Given the description of an element on the screen output the (x, y) to click on. 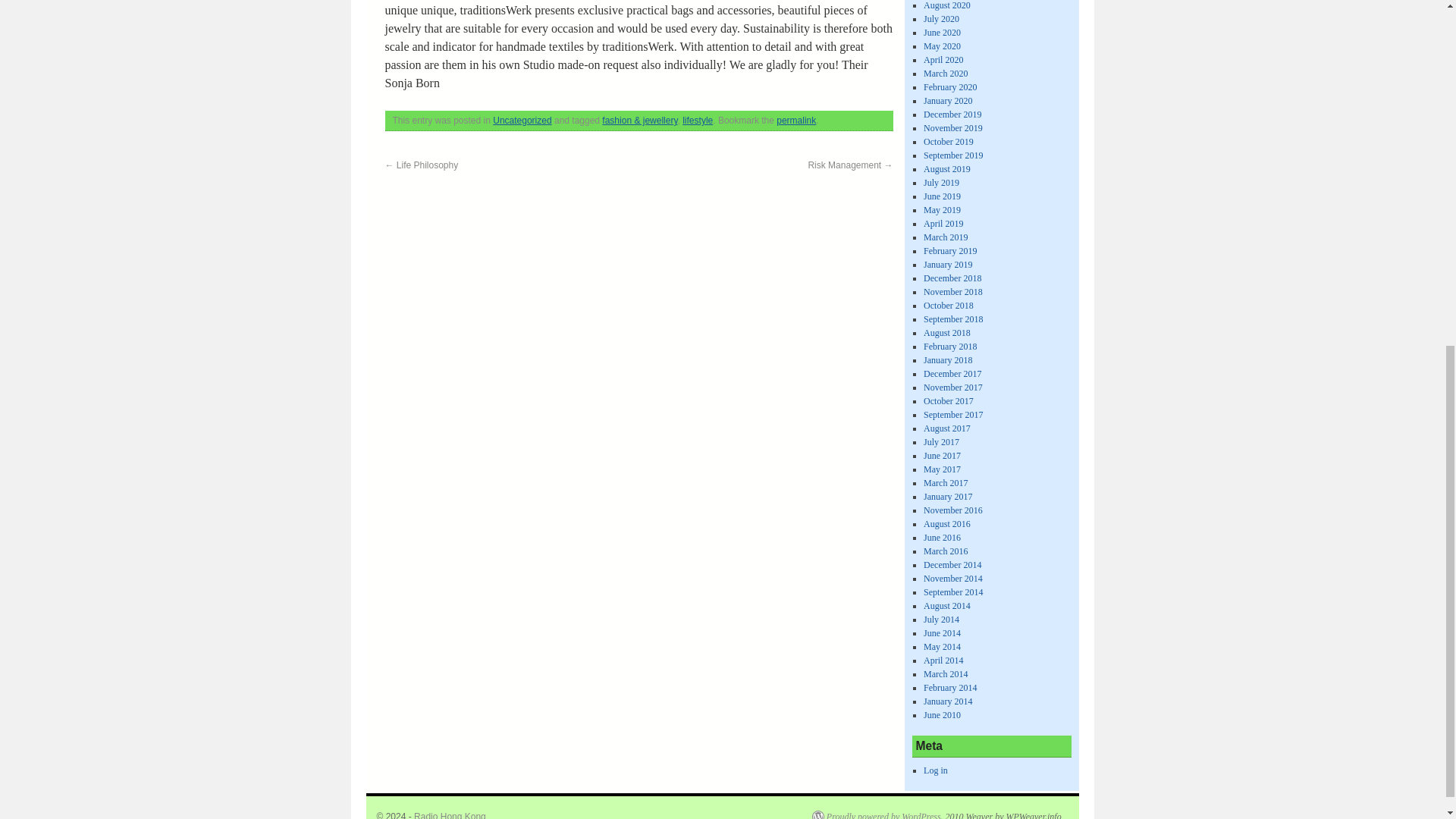
May 2020 (941, 45)
permalink (795, 120)
August 2020 (947, 5)
lifestyle (697, 120)
April 2020 (942, 59)
Uncategorized (522, 120)
Permalink to Sustainable Products (795, 120)
June 2020 (941, 32)
July 2020 (941, 18)
